Given the description of an element on the screen output the (x, y) to click on. 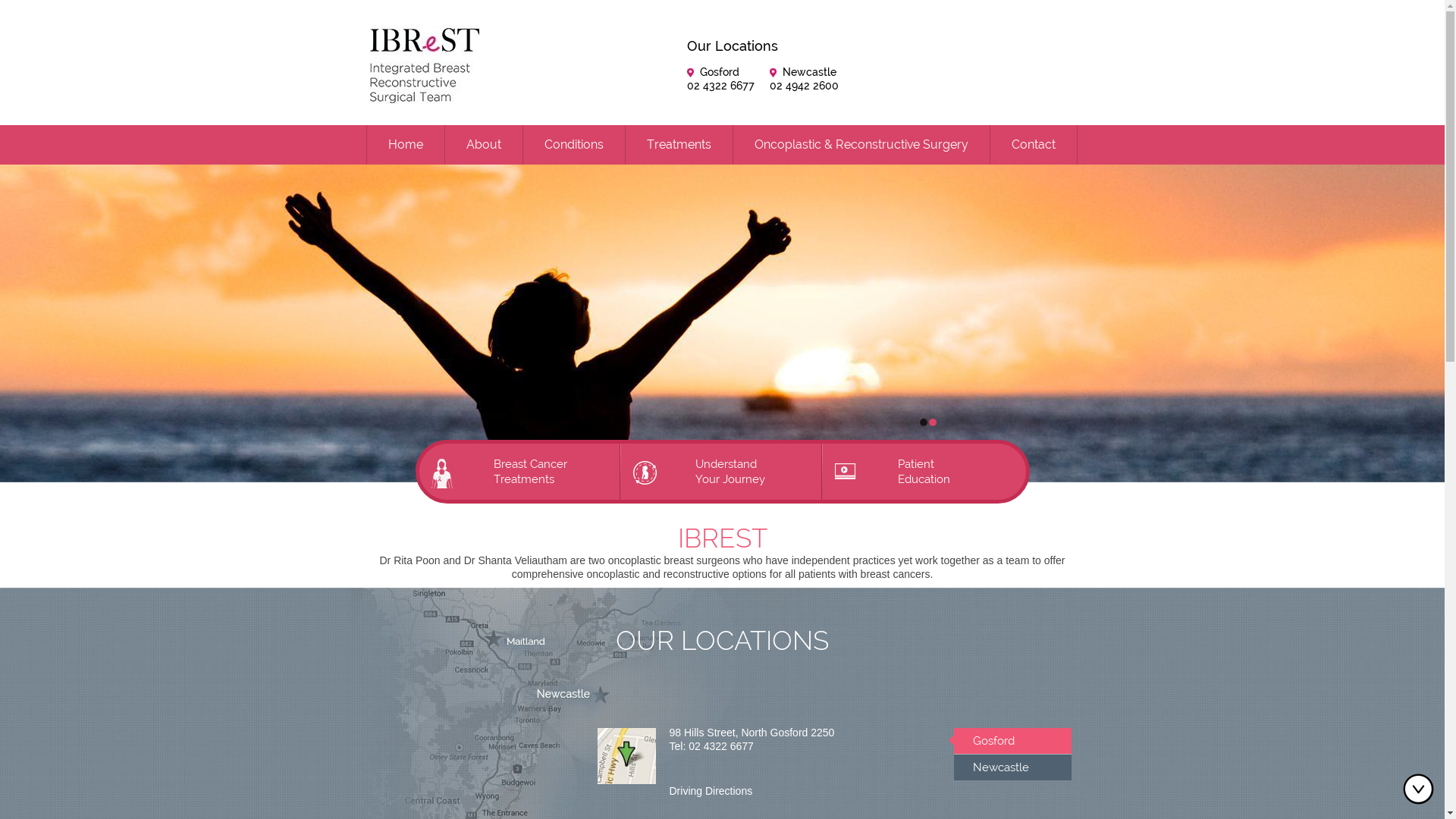
Driving Directions Element type: text (710, 790)
Gosford Element type: text (1012, 740)
Newcastle Element type: text (1012, 767)
  Element type: text (931, 422)
Conditions Element type: text (573, 144)
Contact Element type: text (1033, 144)
Oncoplastic & Reconstructive Surgery Element type: text (860, 144)
Home Element type: text (405, 144)
Treatments Element type: text (677, 144)
IBREST Element type: text (722, 537)
  Element type: text (922, 425)
About Element type: text (482, 144)
Newcastle
02 4942 2600 Element type: text (803, 78)
Breast Cancer
Treatments Element type: text (519, 471)
Understand
Your Journey Element type: text (721, 471)
Gosford
02 4322 6677 Element type: text (720, 78)
Patient
Education Element type: text (923, 471)
